Given the description of an element on the screen output the (x, y) to click on. 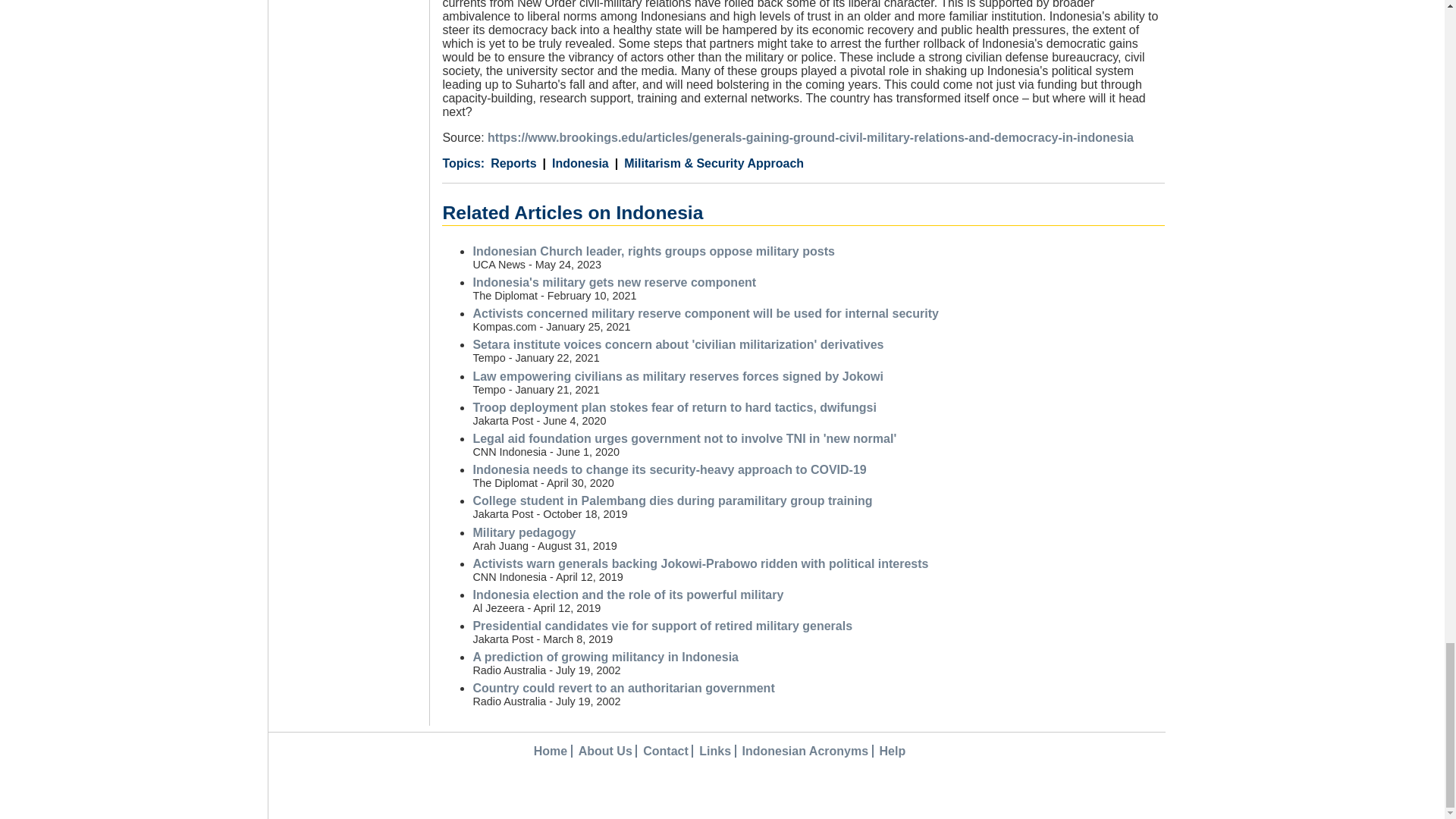
Indonesia (575, 163)
Country could revert to an authoritarian government (622, 687)
Reports (512, 163)
A prediction of growing militancy in Indonesia (604, 656)
Military pedagogy (523, 532)
Indonesia's military gets new reserve component (613, 282)
